Given the description of an element on the screen output the (x, y) to click on. 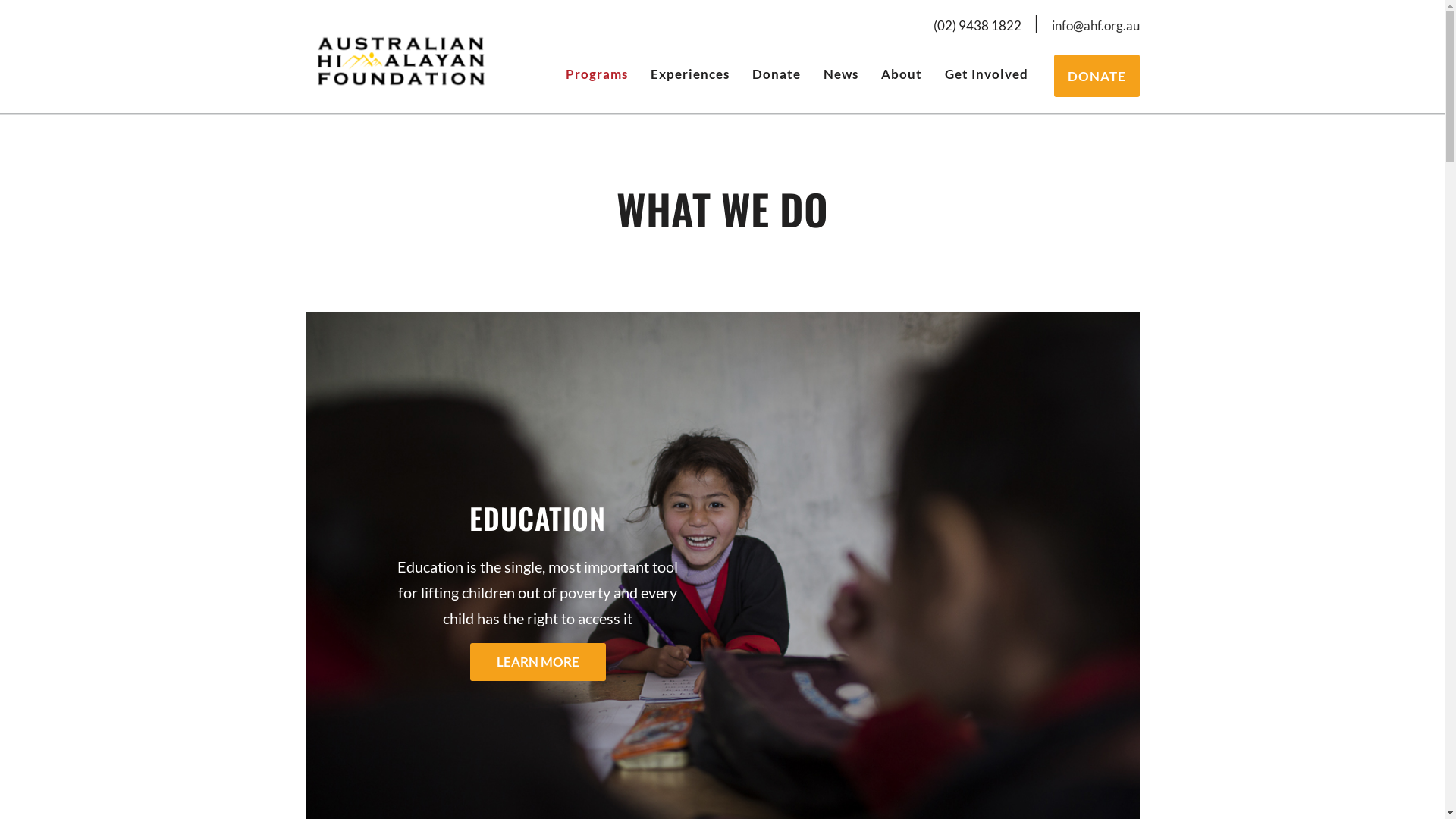
News Element type: text (840, 73)
LEARN MORE Element type: text (537, 661)
Donate Element type: text (775, 73)
Programs Element type: text (595, 73)
info@ahf.org.au Element type: text (1095, 25)
DONATE Element type: text (1095, 75)
Get Involved Element type: text (985, 73)
About Element type: text (900, 73)
Experiences Element type: text (689, 73)
